Given the description of an element on the screen output the (x, y) to click on. 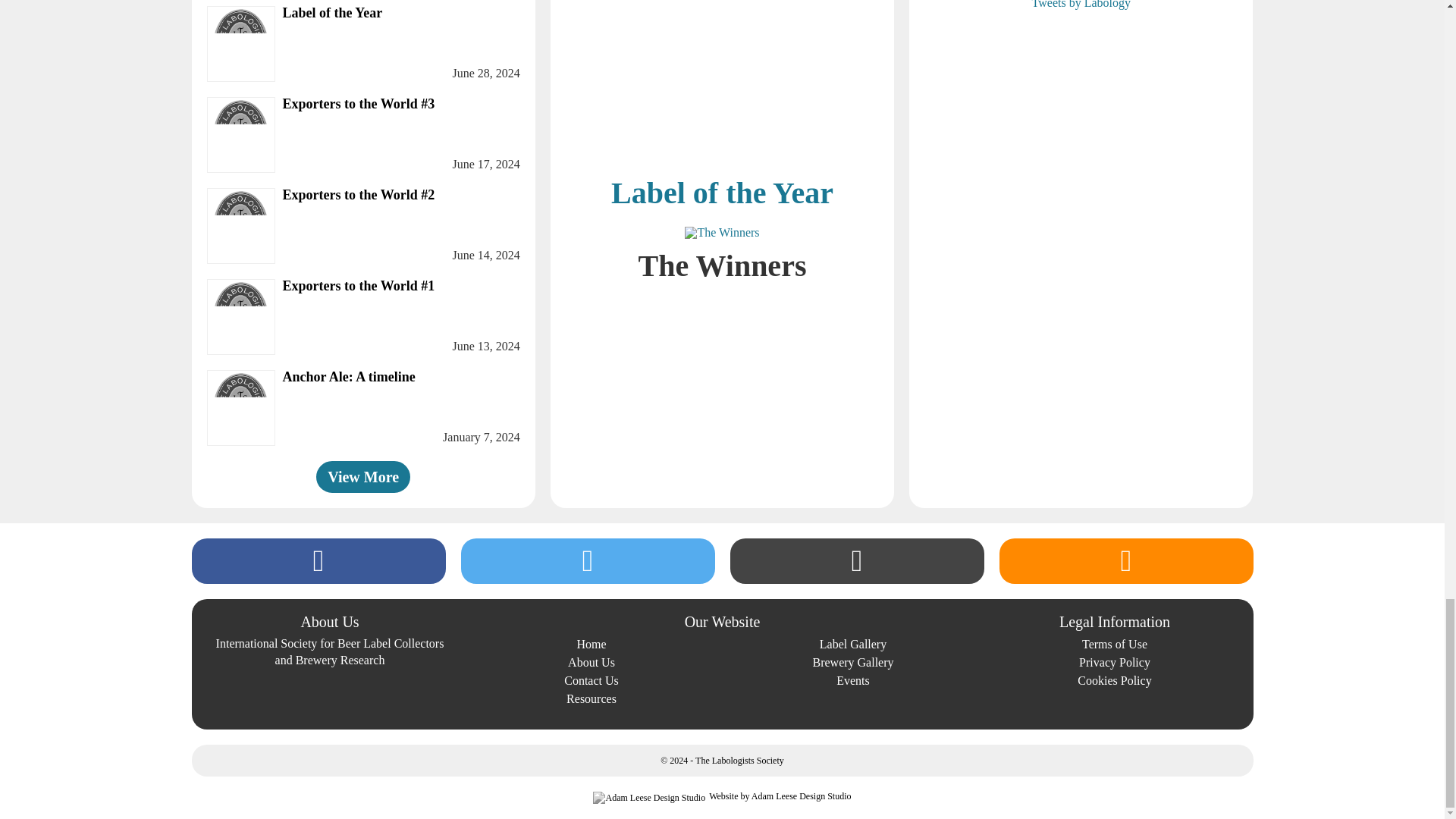
View More (362, 477)
